Given the description of an element on the screen output the (x, y) to click on. 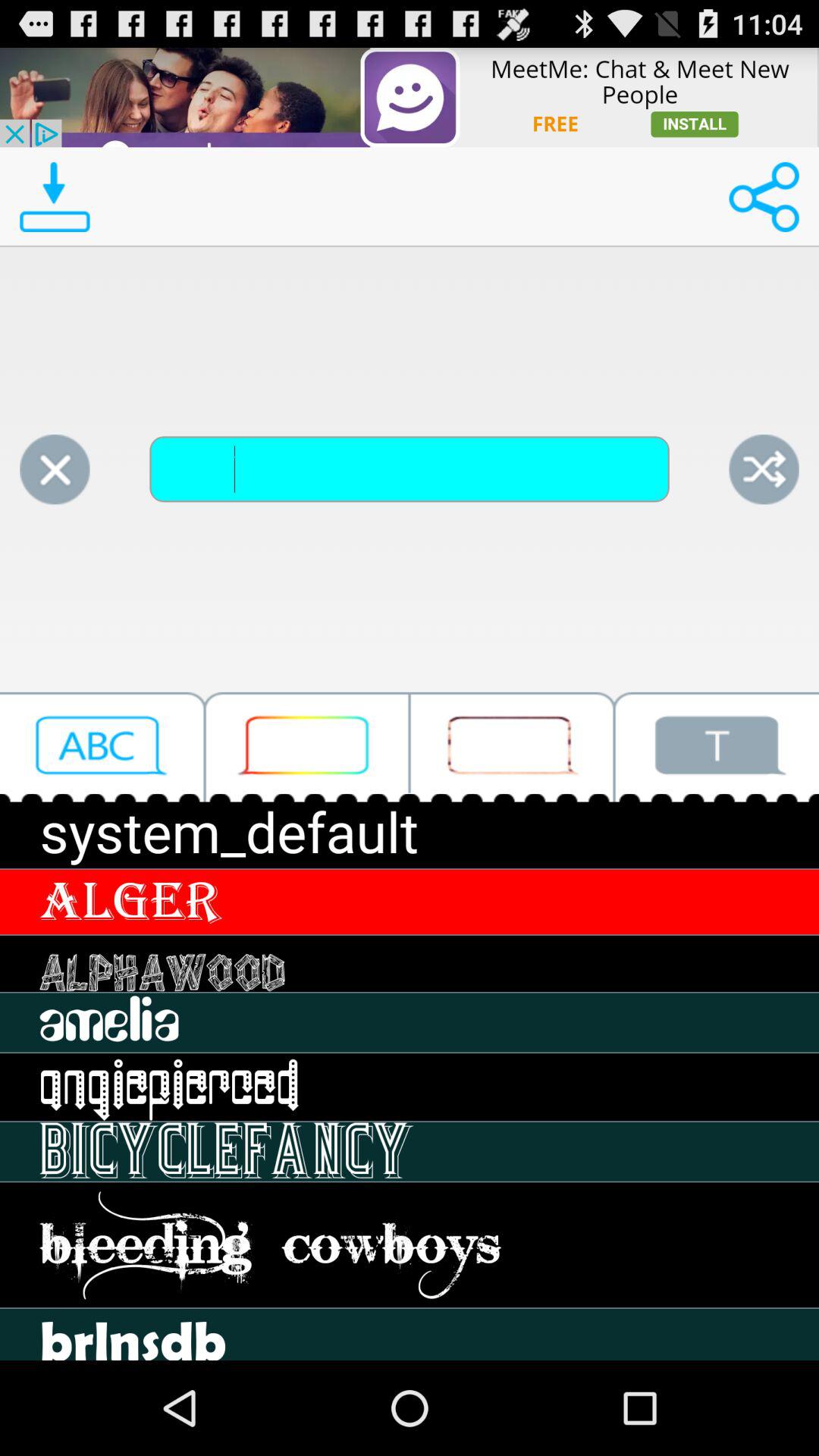
t (716, 746)
